Given the description of an element on the screen output the (x, y) to click on. 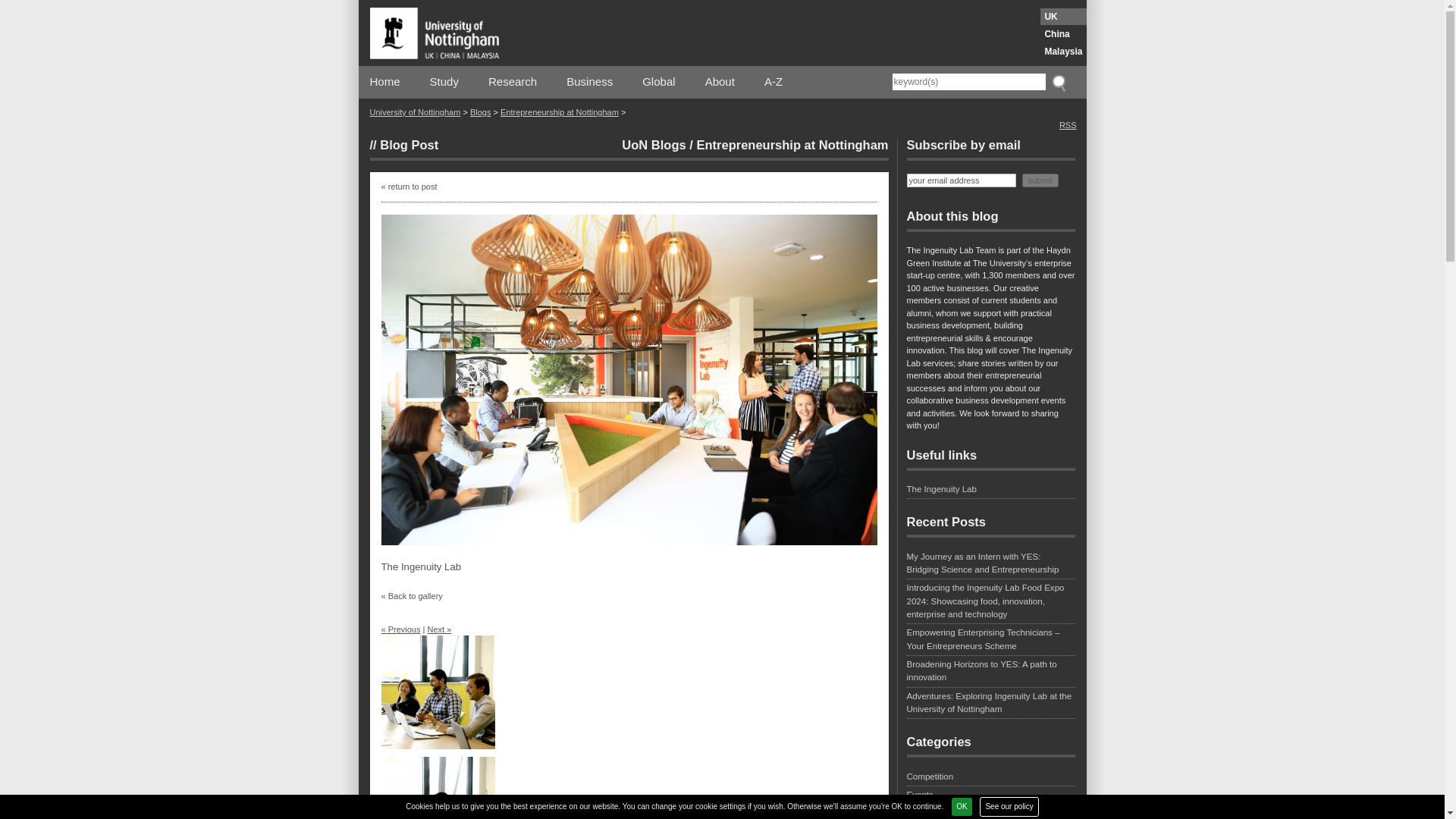
submit (1040, 179)
Events (991, 796)
GO (1057, 82)
UoN Blogs (653, 144)
Malaysia (1063, 51)
Competition (991, 778)
Entrepreneurship at Nottingham (791, 144)
University of Nottingham (415, 112)
Home (384, 81)
GO (1057, 82)
A-Z (773, 81)
submit (1040, 179)
RSS (1068, 123)
